Given the description of an element on the screen output the (x, y) to click on. 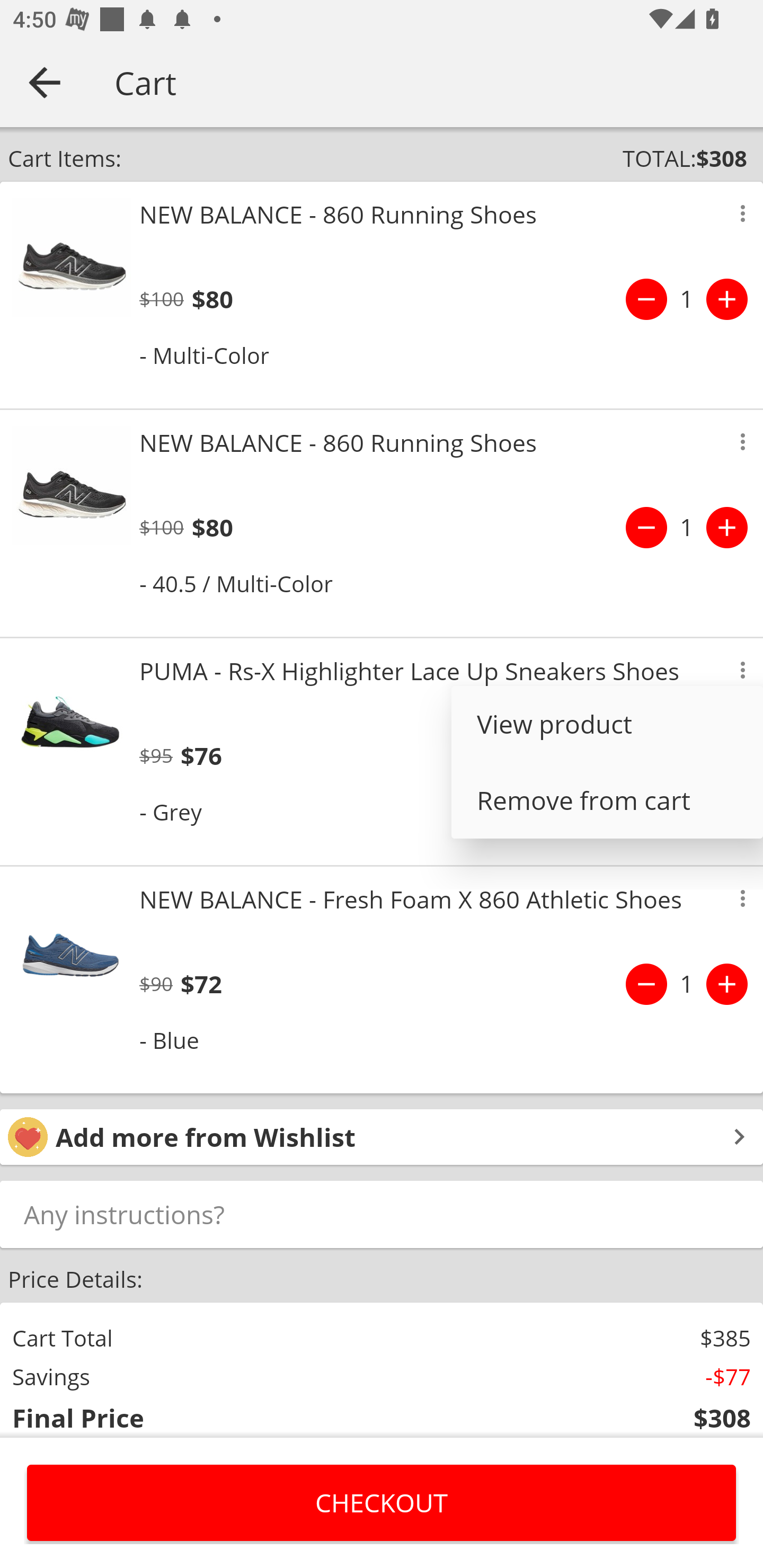
View product (607, 724)
Remove from cart (607, 800)
